Given the description of an element on the screen output the (x, y) to click on. 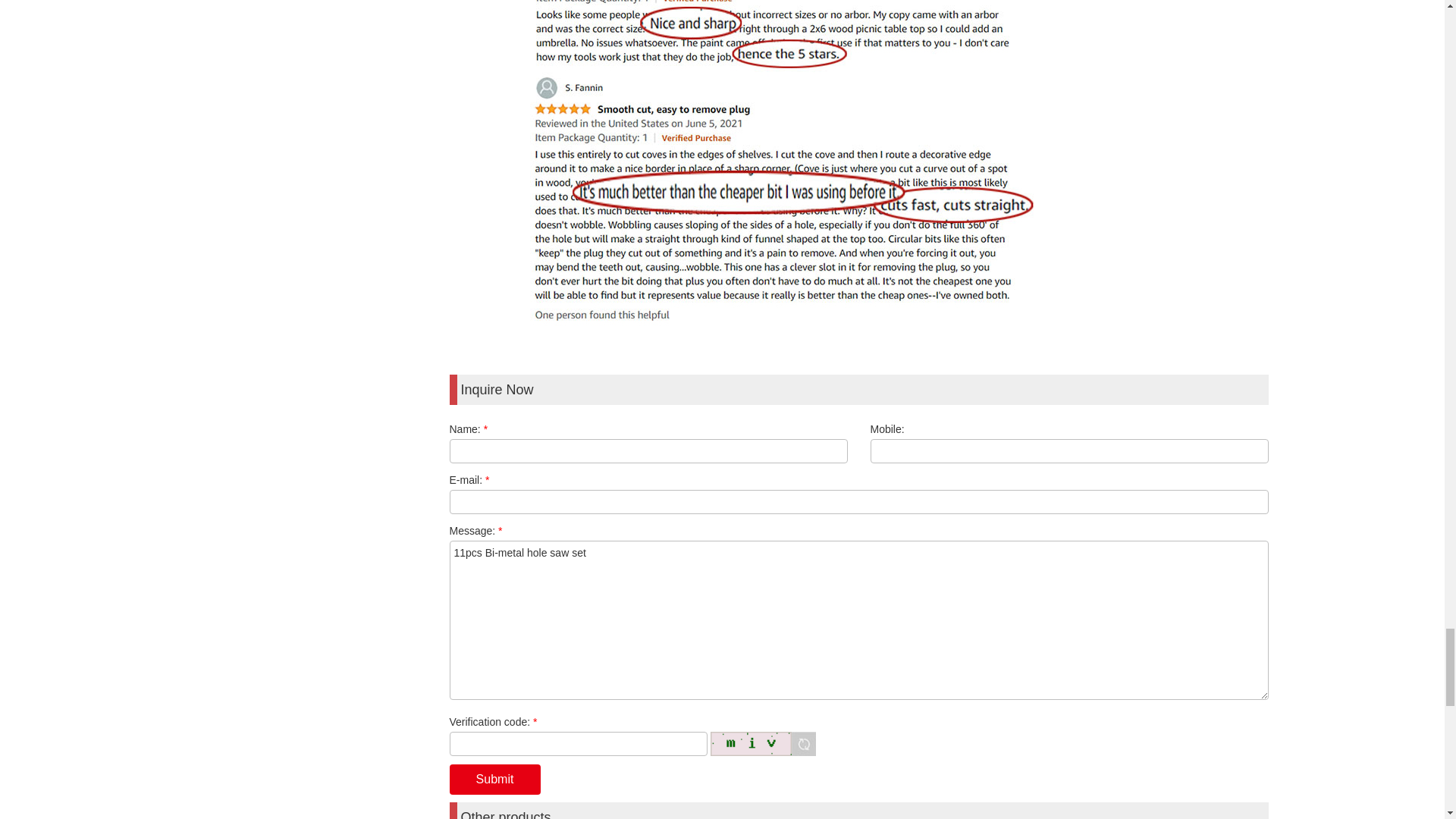
Generate a new captcha (751, 743)
6781678180266665.jpg (857, 35)
Submit (494, 779)
